Given the description of an element on the screen output the (x, y) to click on. 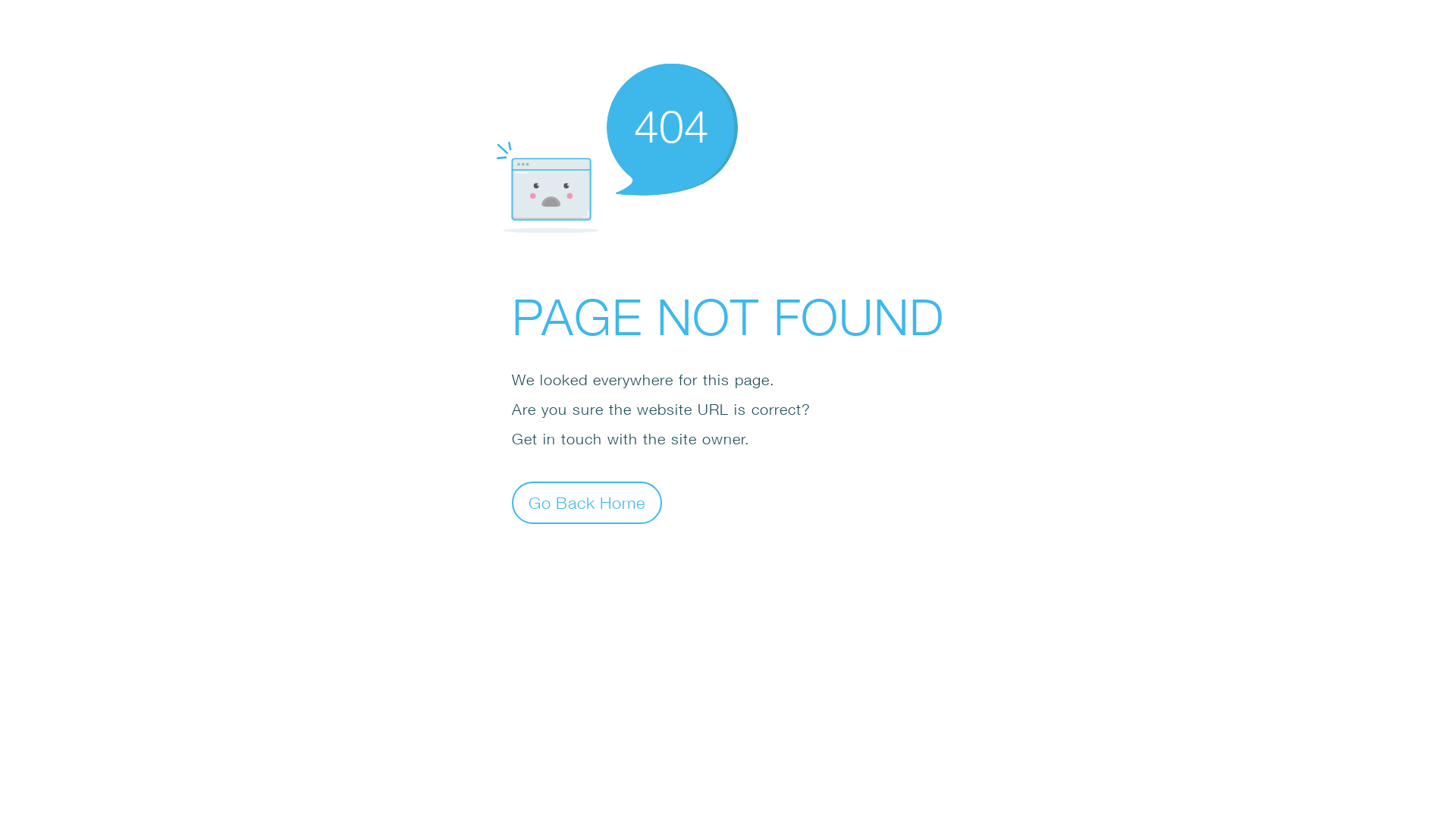
Go Back Home Element type: text (586, 502)
